Given the description of an element on the screen output the (x, y) to click on. 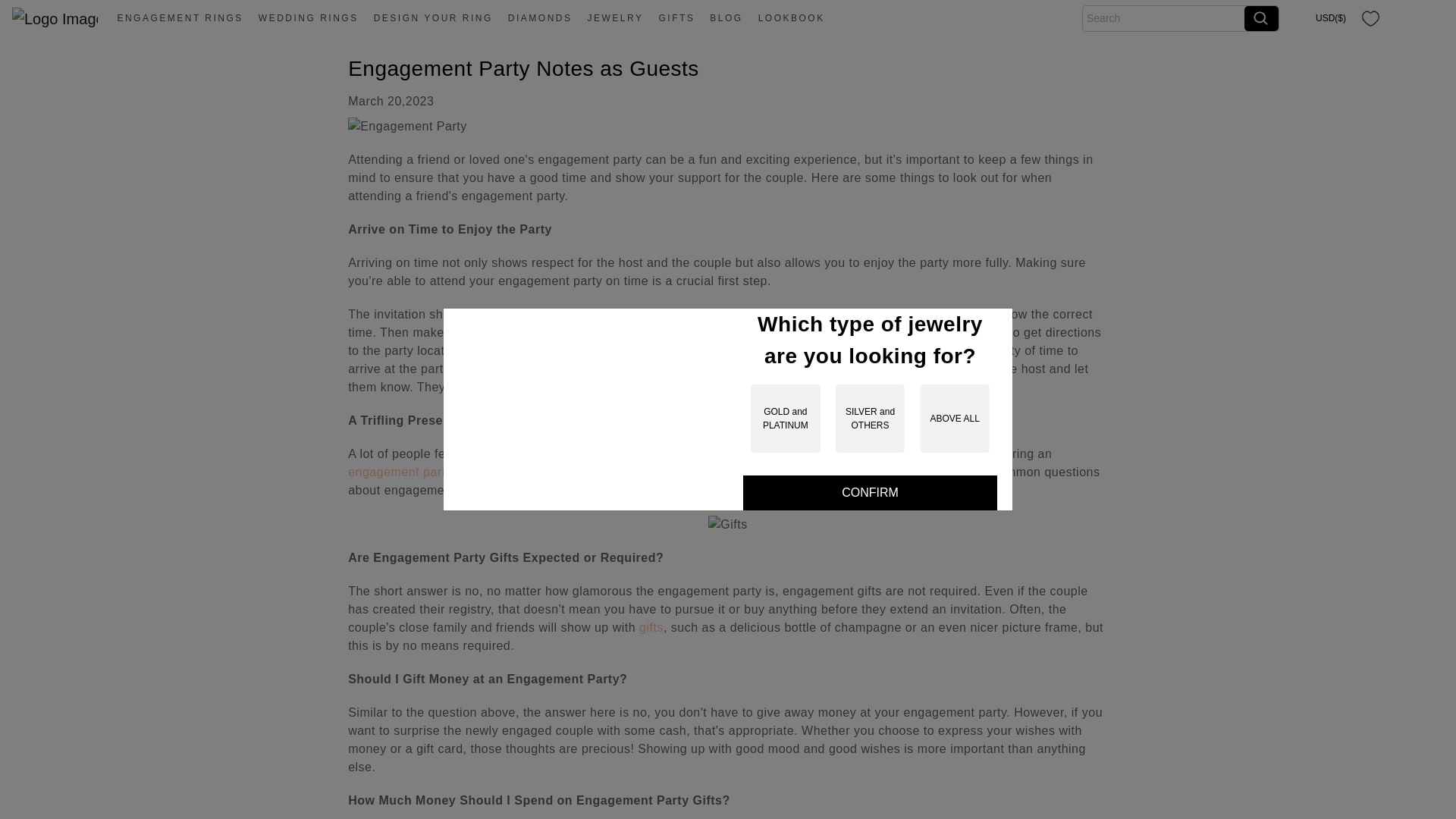
Cart (1430, 17)
WEDDING RINGS (308, 18)
ENGAGEMENT RINGS (179, 18)
